Given the description of an element on the screen output the (x, y) to click on. 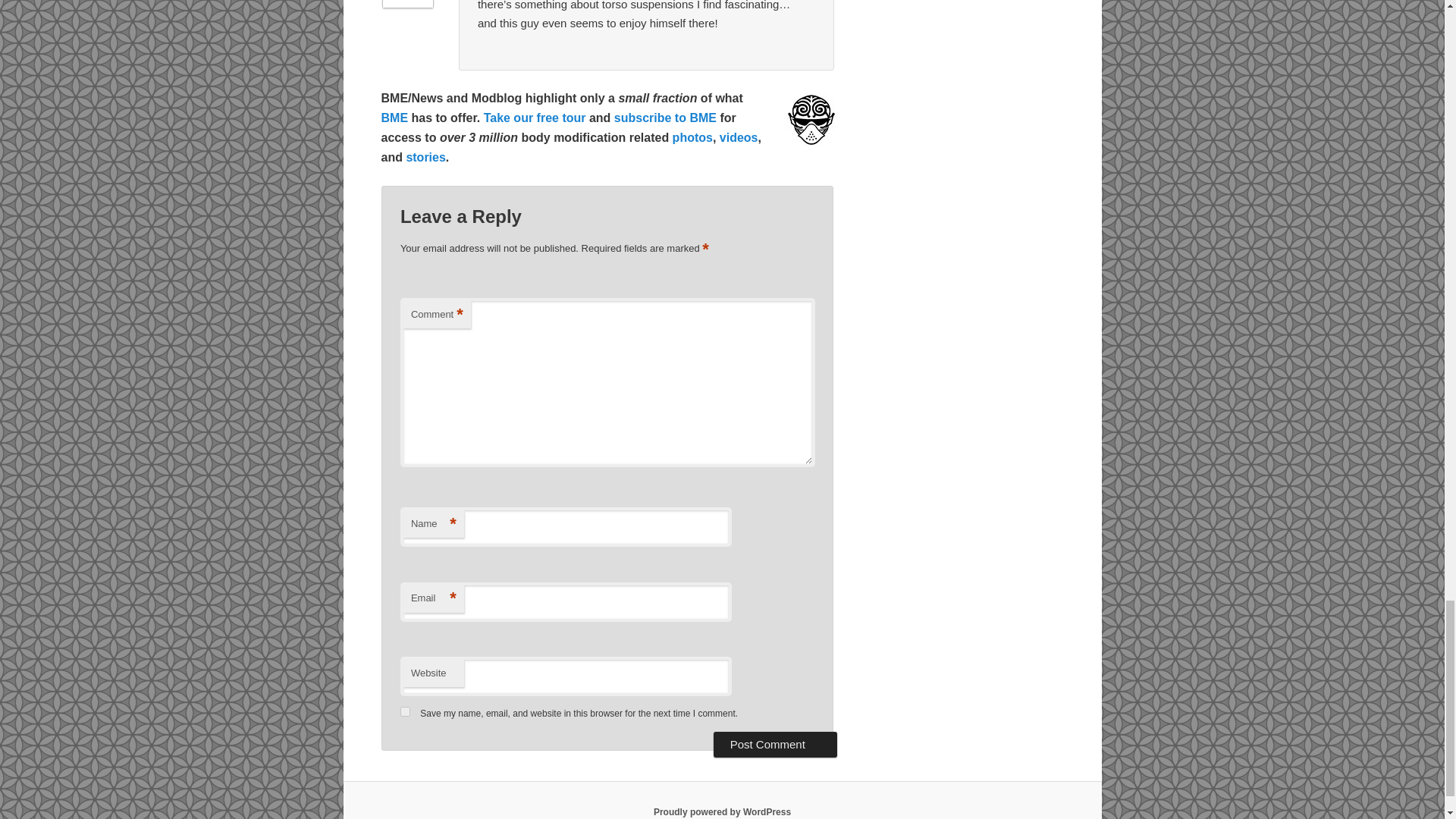
stories (425, 156)
yes (405, 711)
Post Comment (775, 744)
BME: Body Modification E-zine (393, 117)
photos (692, 137)
subscribe to BME (665, 117)
Take our free tour (534, 117)
videos (738, 137)
Post Comment (775, 744)
BME (393, 117)
